Given the description of an element on the screen output the (x, y) to click on. 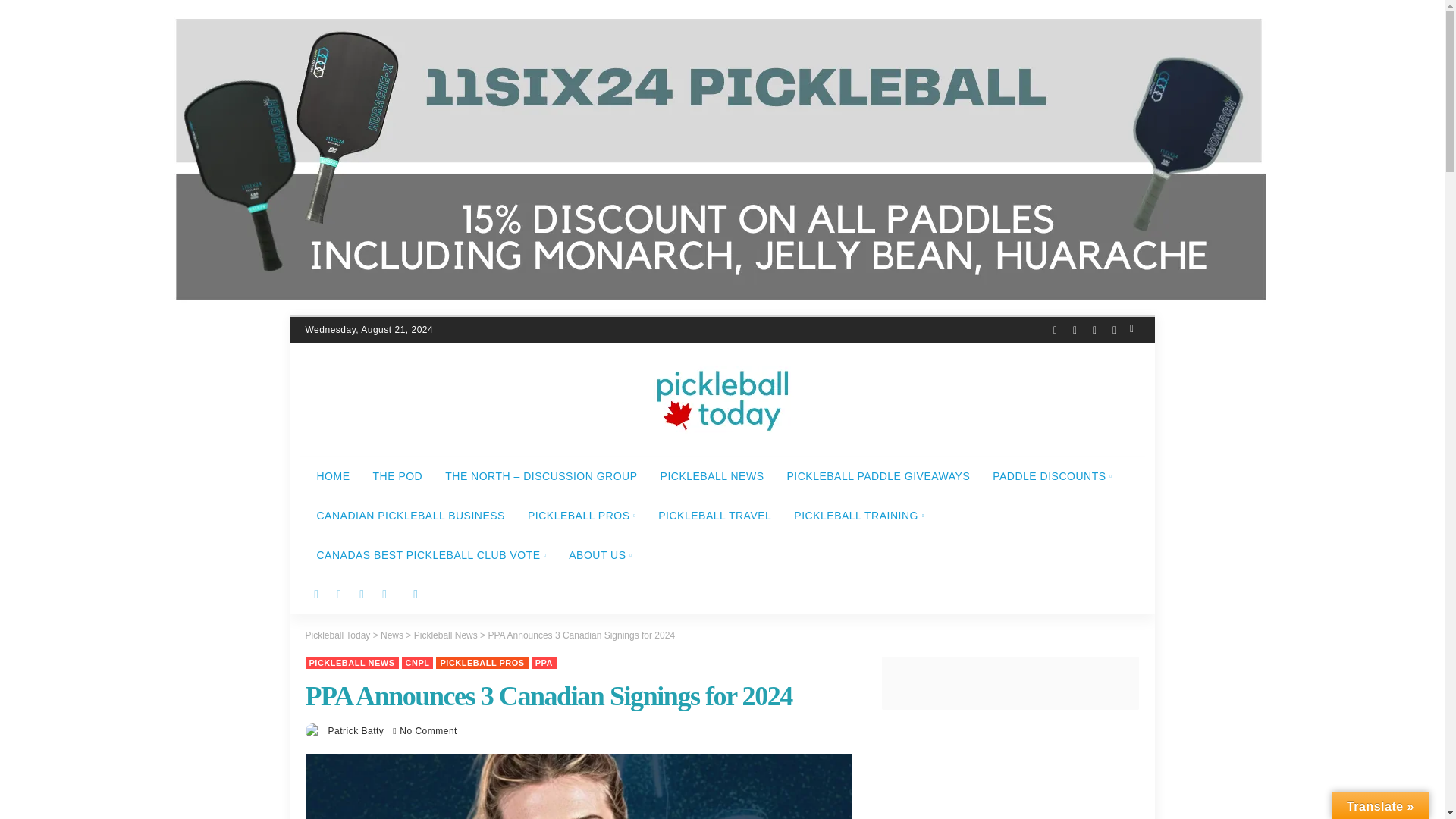
PICKLEBALL TRAVEL (714, 515)
Go to News. (391, 634)
PICKLEBALL PADDLE GIVEAWAYS (877, 476)
Go to Pickleball Today. (336, 634)
PICKLEBALL NEWS (712, 476)
CANADIAN PICKLEBALL BUSINESS (409, 515)
PICKLEBALL PROS (581, 515)
THE POD (397, 476)
HOME (332, 476)
PADDLE DISCOUNTS (1051, 476)
